Given the description of an element on the screen output the (x, y) to click on. 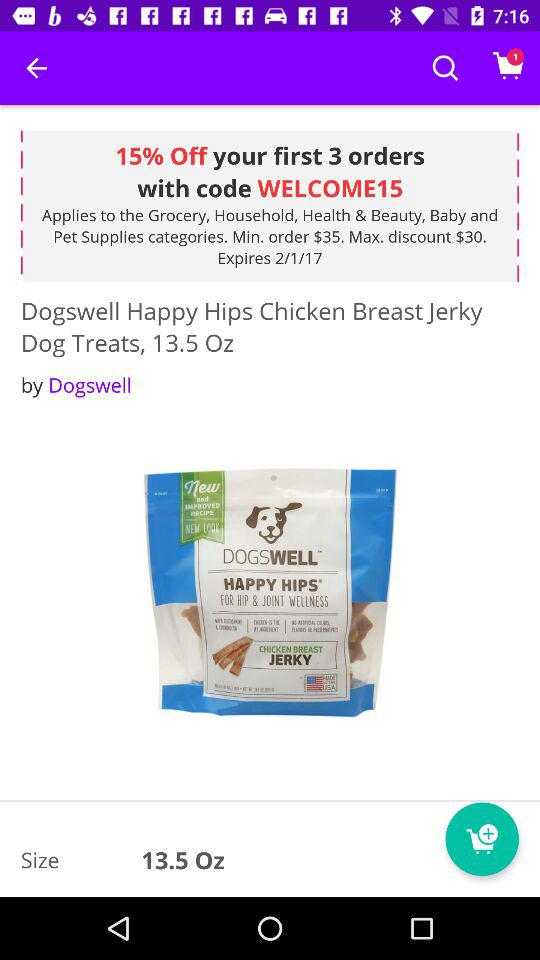
open product photo (270, 594)
